Given the description of an element on the screen output the (x, y) to click on. 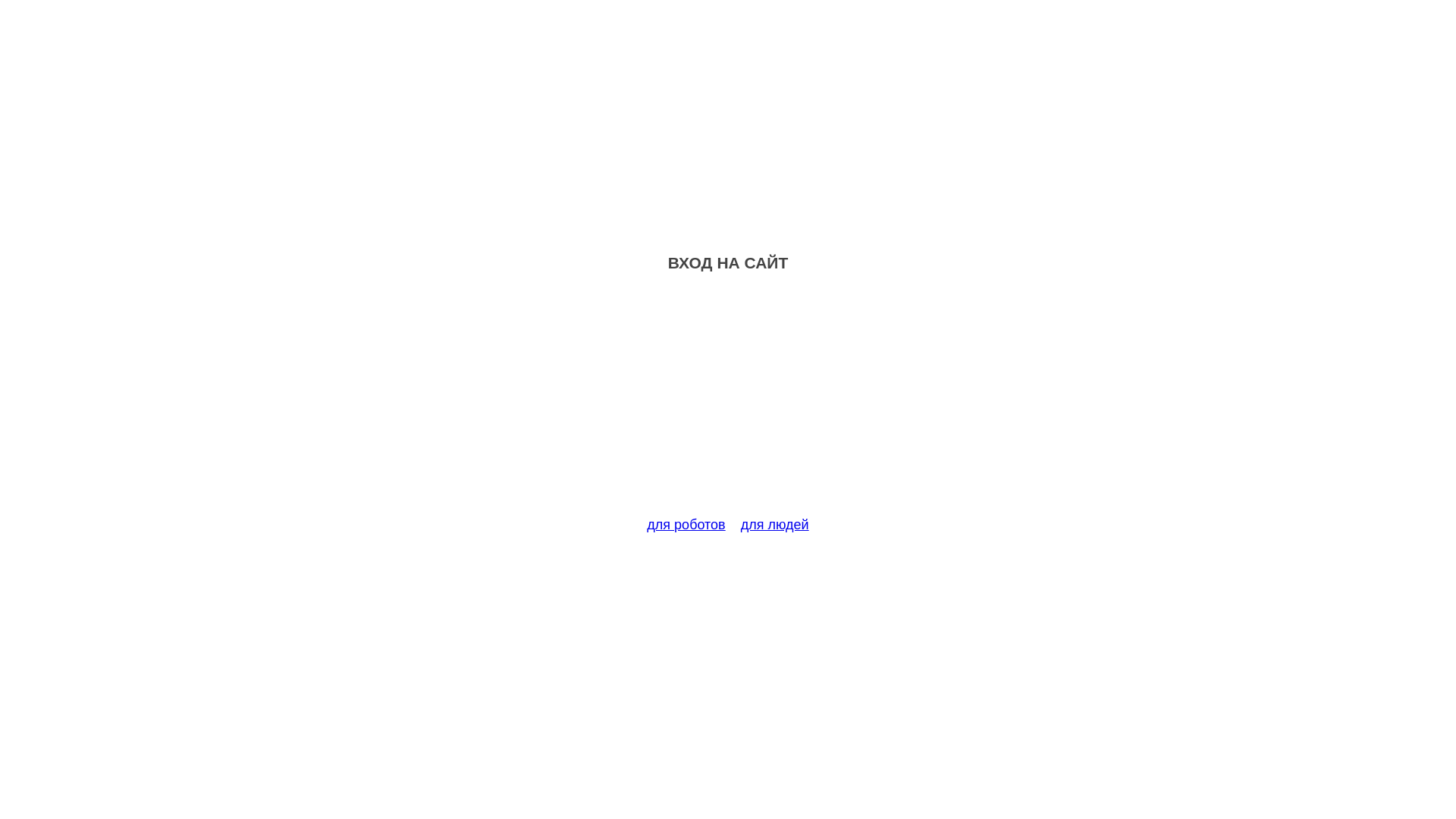
Advertisement Element type: hover (727, 403)
